Given the description of an element on the screen output the (x, y) to click on. 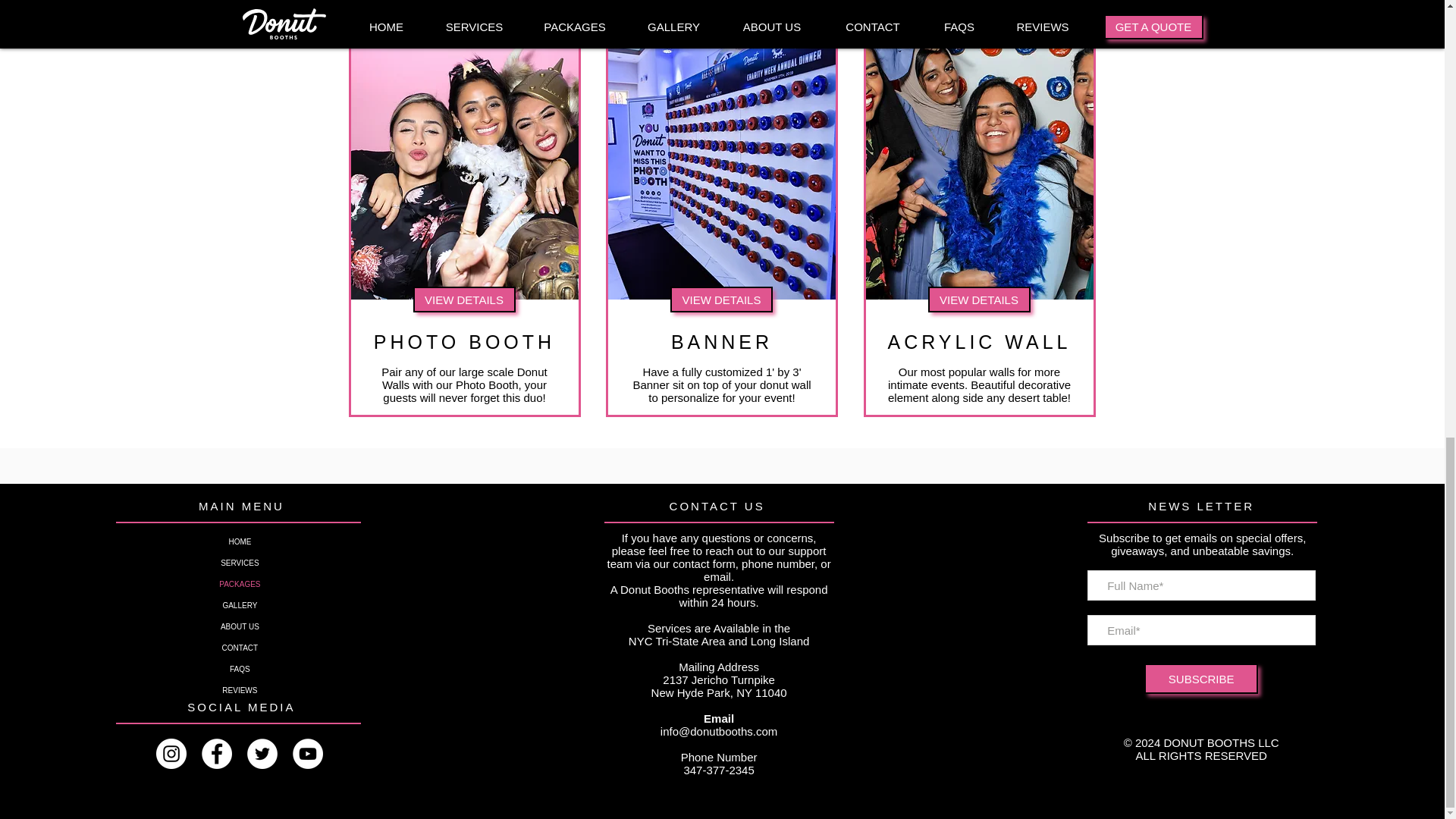
HOME (239, 541)
ABOUT US (239, 627)
REVIEWS (239, 690)
SUBSCRIBE (1200, 678)
GALLERY (239, 605)
SERVICES (239, 563)
VIEW DETAILS (463, 299)
CONTACT (239, 648)
FAQS (239, 669)
